Given the description of an element on the screen output the (x, y) to click on. 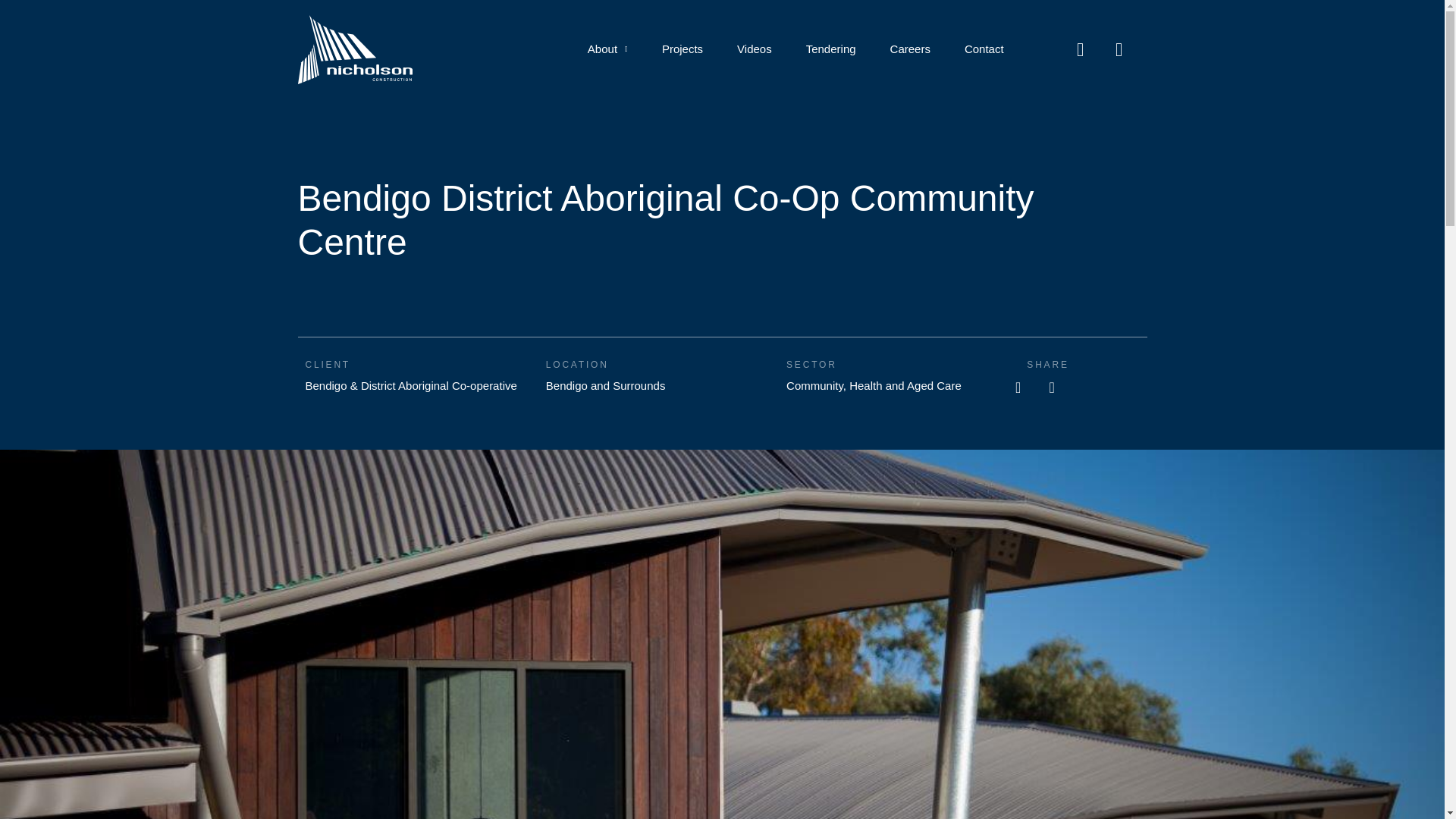
Tendering (830, 48)
Contact (984, 48)
Careers (909, 48)
Videos (754, 48)
About (607, 48)
Projects (681, 48)
Community (814, 385)
Health and Aged Care (904, 385)
Bendigo and Surrounds (605, 385)
